Given the description of an element on the screen output the (x, y) to click on. 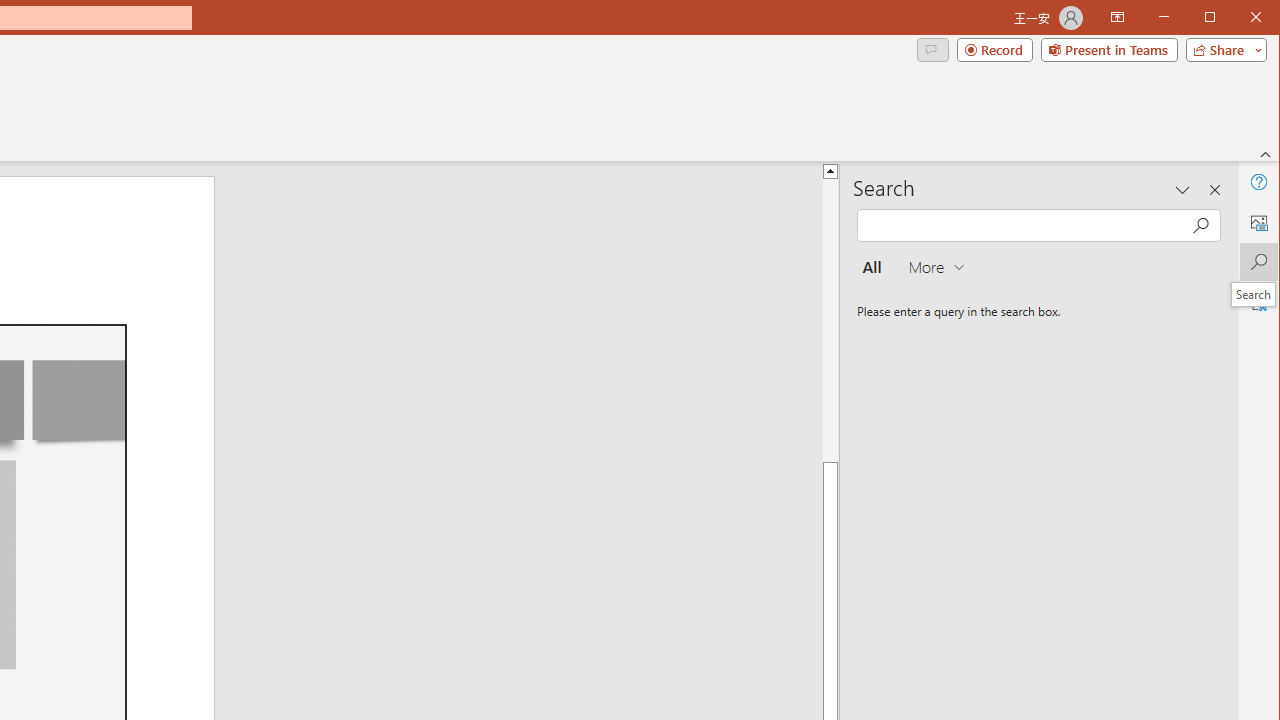
Alt Text (1258, 221)
Maximize (1238, 18)
